Given the description of an element on the screen output the (x, y) to click on. 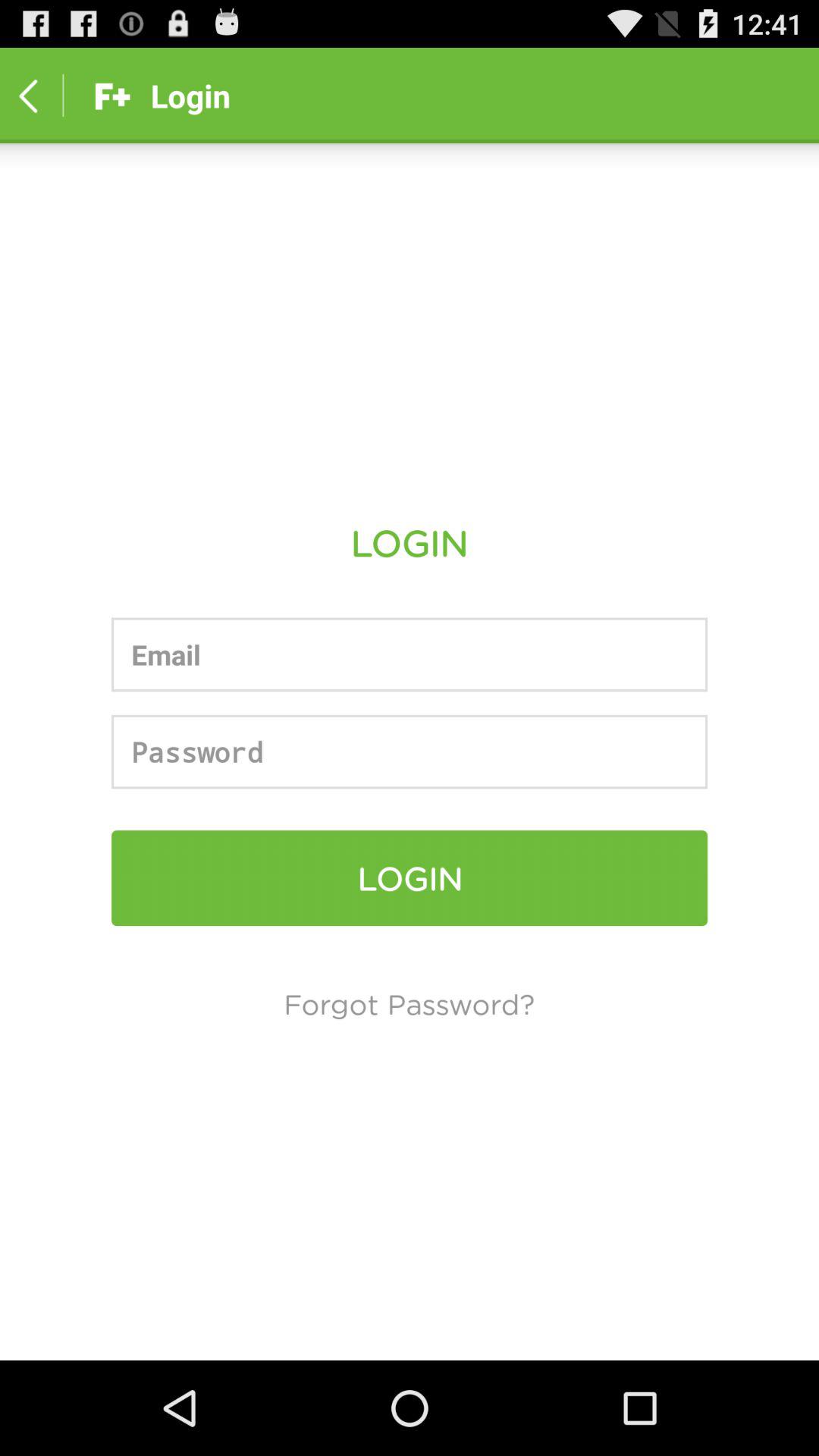
write email for login (409, 654)
